Given the description of an element on the screen output the (x, y) to click on. 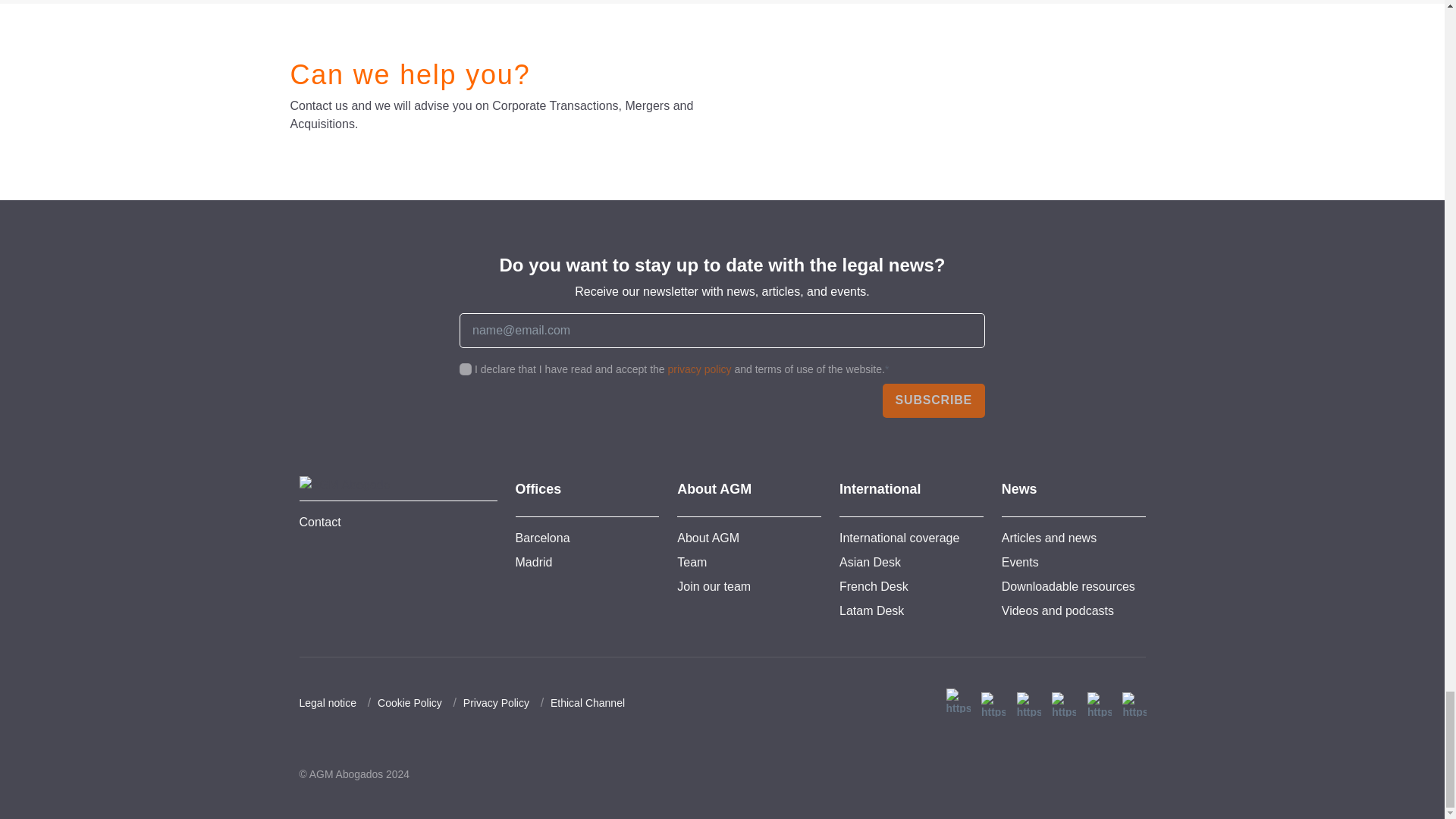
true (465, 369)
SUBSCRIBE (933, 401)
